Given the description of an element on the screen output the (x, y) to click on. 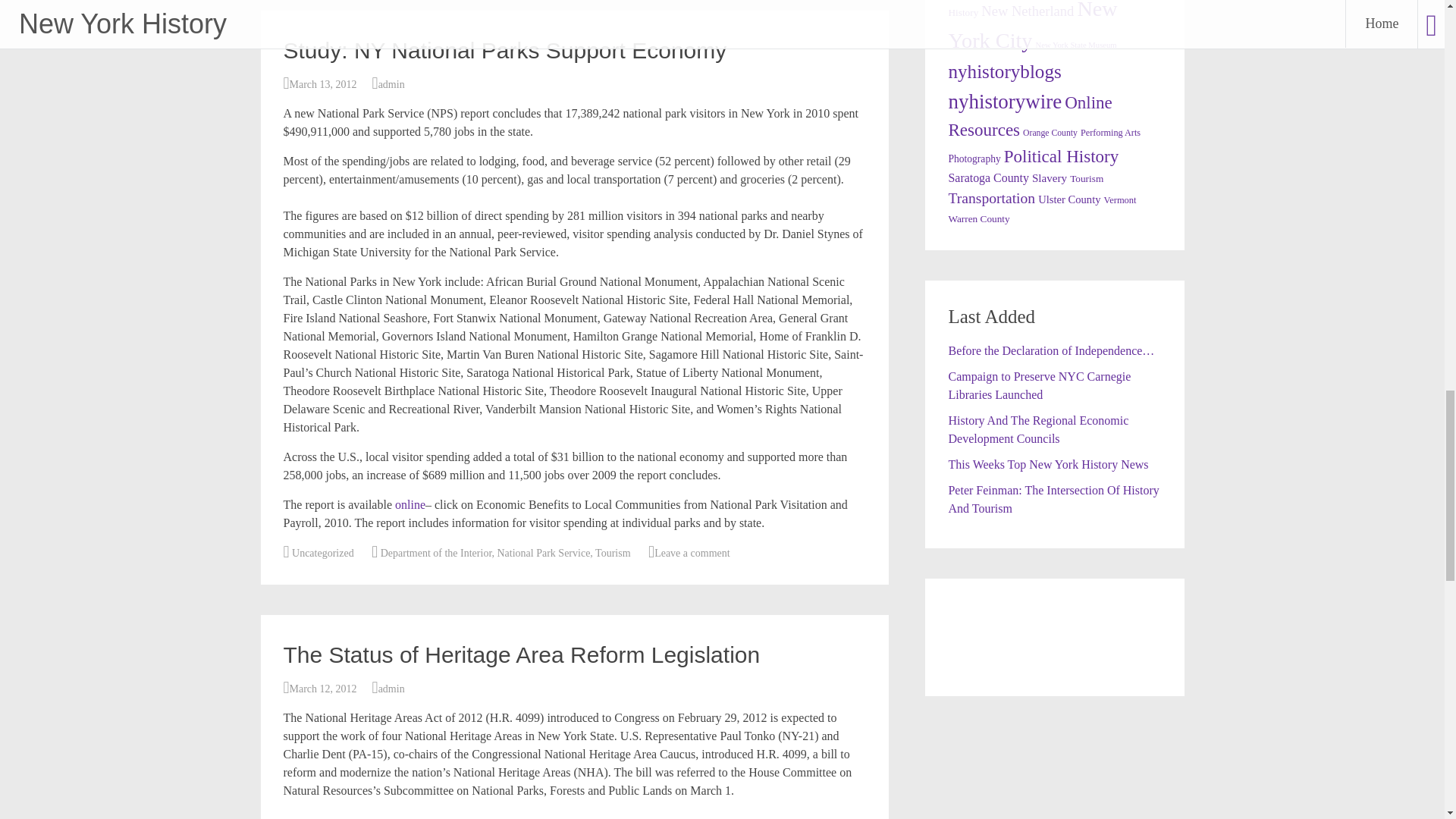
National Park Service (544, 552)
Tourism (612, 552)
Study: NY National Parks Support Economy (504, 50)
Uncategorized (322, 552)
online (409, 504)
Leave a comment (691, 552)
March 13, 2012 (322, 84)
The Status of Heritage Area Reform Legislation (521, 654)
Department of the Interior (436, 552)
March 12, 2012 (322, 688)
admin (391, 688)
admin (391, 84)
